Given the description of an element on the screen output the (x, y) to click on. 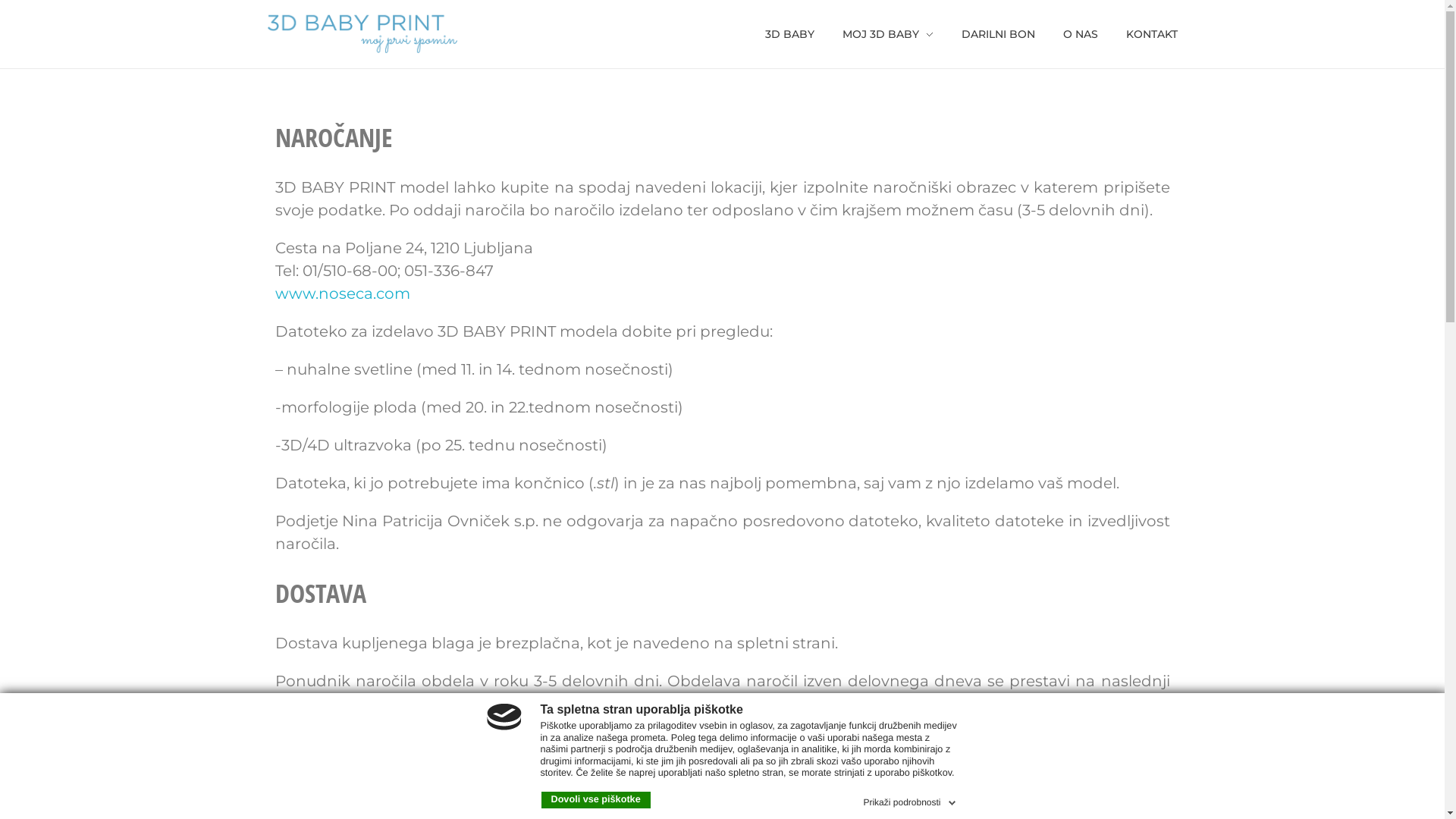
3D BABY Element type: text (796, 34)
O NAS Element type: text (1079, 34)
www.noseca.com Element type: text (341, 293)
MOJ 3D BABY Element type: text (887, 34)
KONTAKT Element type: text (1143, 34)
DARILNI BON Element type: text (998, 34)
